Given the description of an element on the screen output the (x, y) to click on. 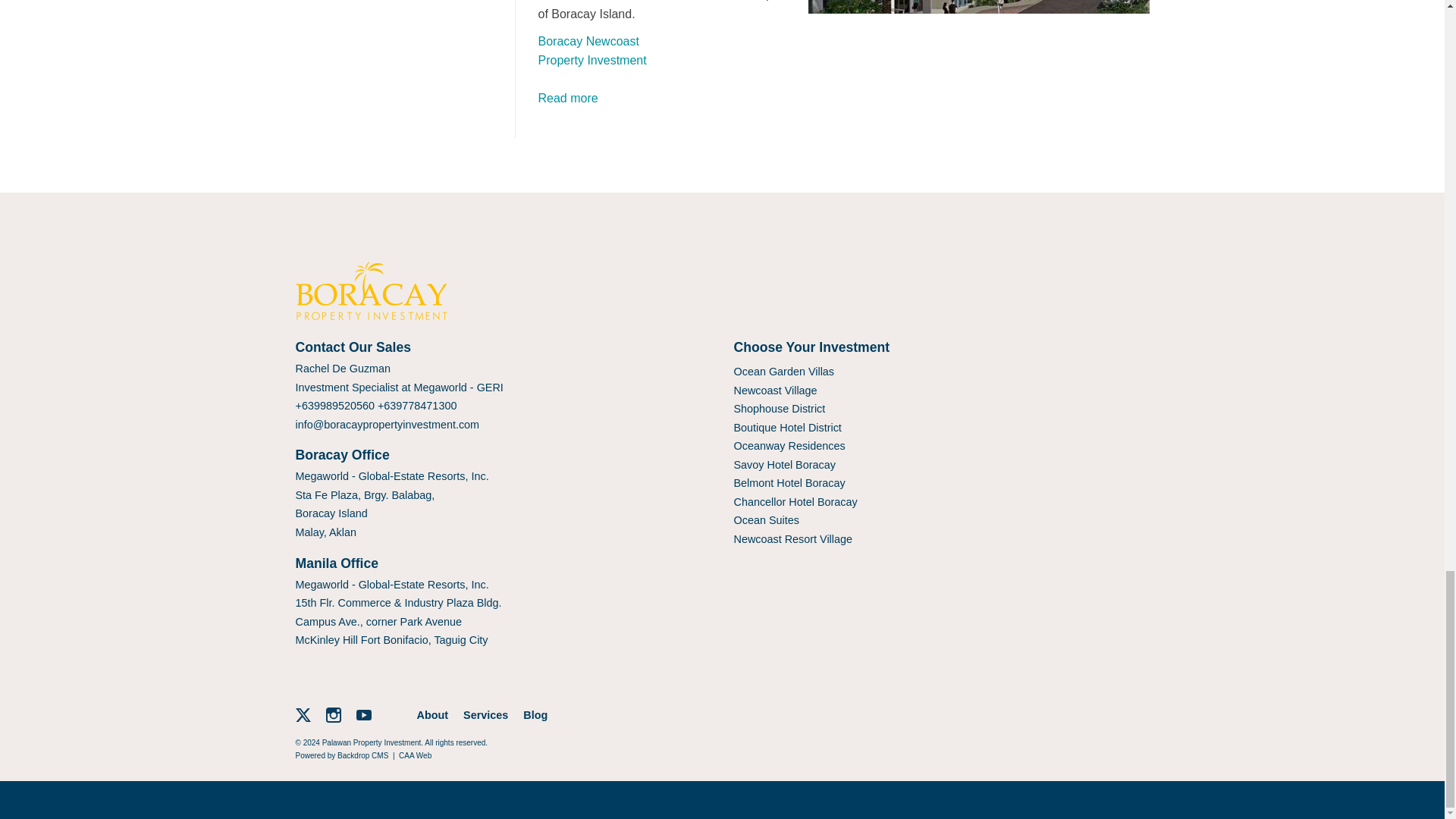
GERI Expands Condo Portfolio in Boracay Newcoast (568, 97)
Boracay Newcoast (588, 41)
Property Investment (592, 60)
